Given the description of an element on the screen output the (x, y) to click on. 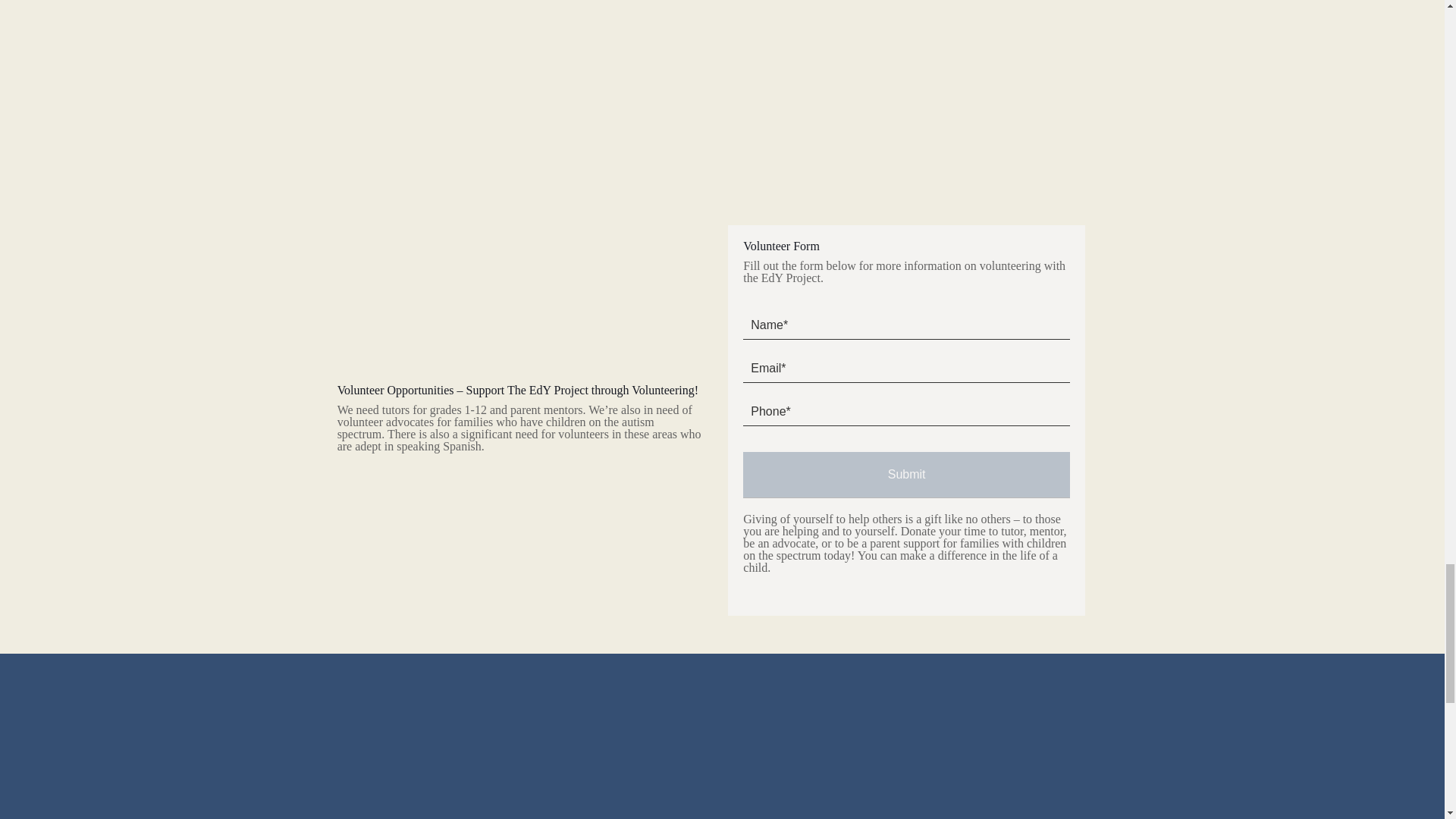
submit (906, 474)
Rectangle-31-1-new (331, 67)
submit (906, 474)
submit (394, 734)
